Given the description of an element on the screen output the (x, y) to click on. 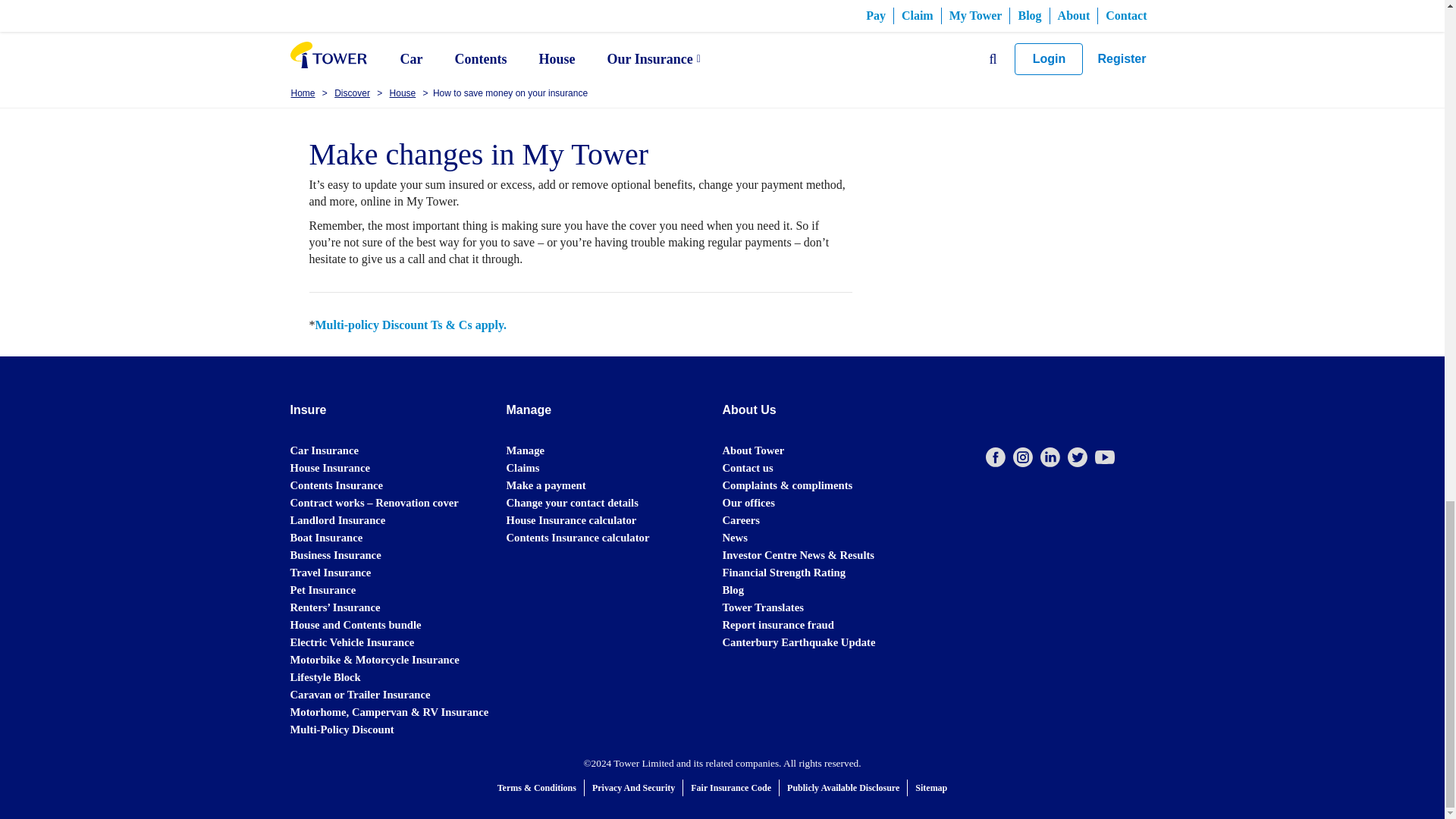
Youtube (1104, 456)
Twitter (1077, 456)
one event, one excess, (727, 9)
Tower facebook (995, 456)
Linkedin (1050, 456)
Instagram (1022, 456)
